Given the description of an element on the screen output the (x, y) to click on. 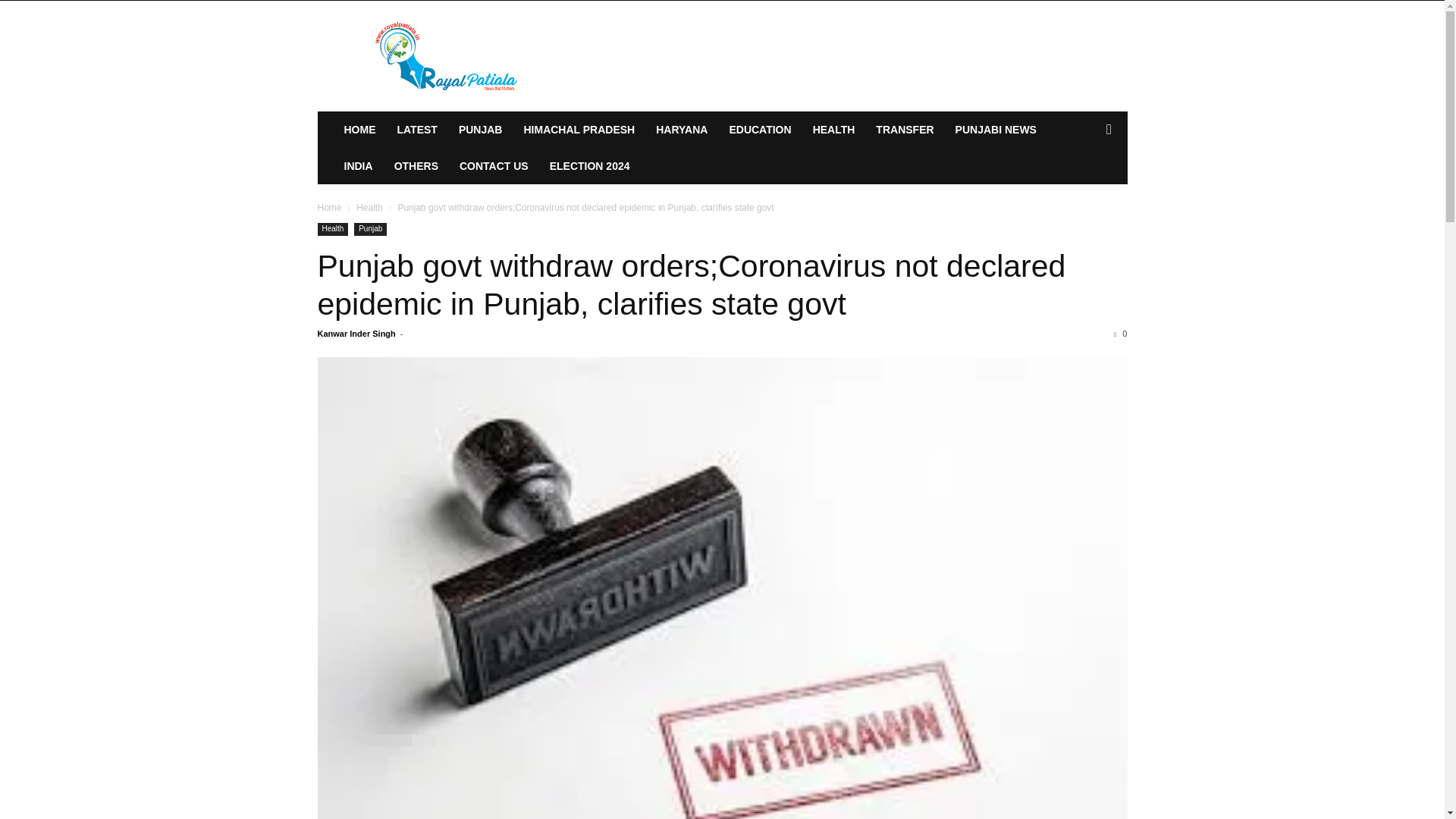
HIMACHAL PRADESH (578, 129)
Home (328, 207)
HOME (360, 129)
OTHERS (416, 166)
PUNJABI NEWS (995, 129)
Royal Patiala (446, 56)
PUNJAB (480, 129)
TRANSFER (903, 129)
CONTACT US (493, 166)
HARYANA (681, 129)
